Given the description of an element on the screen output the (x, y) to click on. 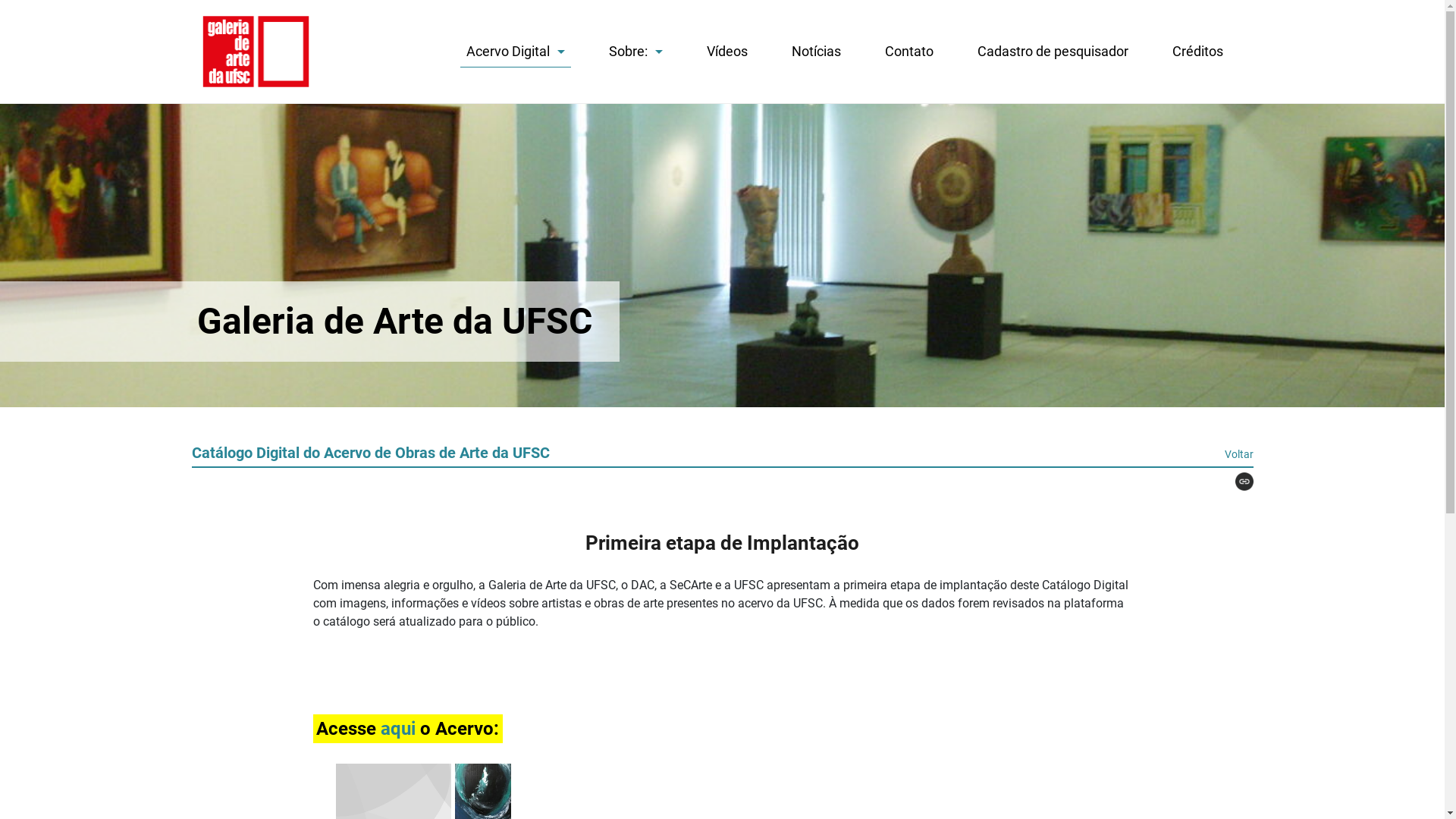
Sobre: Element type: text (635, 51)
Cadastro de pesquisador Element type: text (1051, 51)
Acervo Digital Element type: text (514, 54)
Contato Element type: text (908, 51)
Voltar Element type: text (1237, 454)
aqui Element type: text (400, 728)
Copiar link Element type: hover (1237, 481)
